Given the description of an element on the screen output the (x, y) to click on. 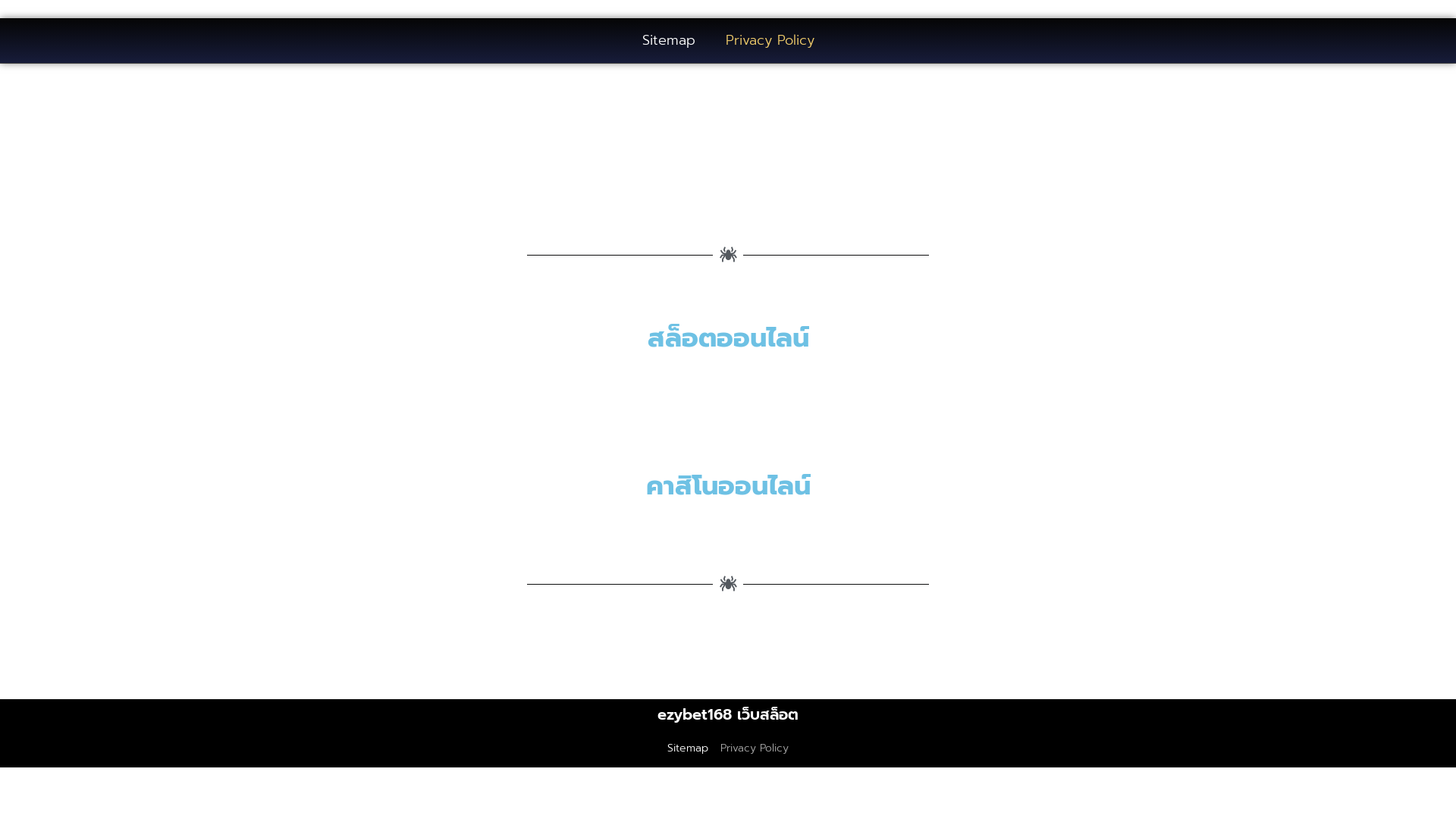
Sitemap Element type: text (667, 40)
Privacy Policy Element type: text (768, 40)
Sitemap Element type: text (687, 748)
Privacy Policy Element type: text (754, 748)
